Given the description of an element on the screen output the (x, y) to click on. 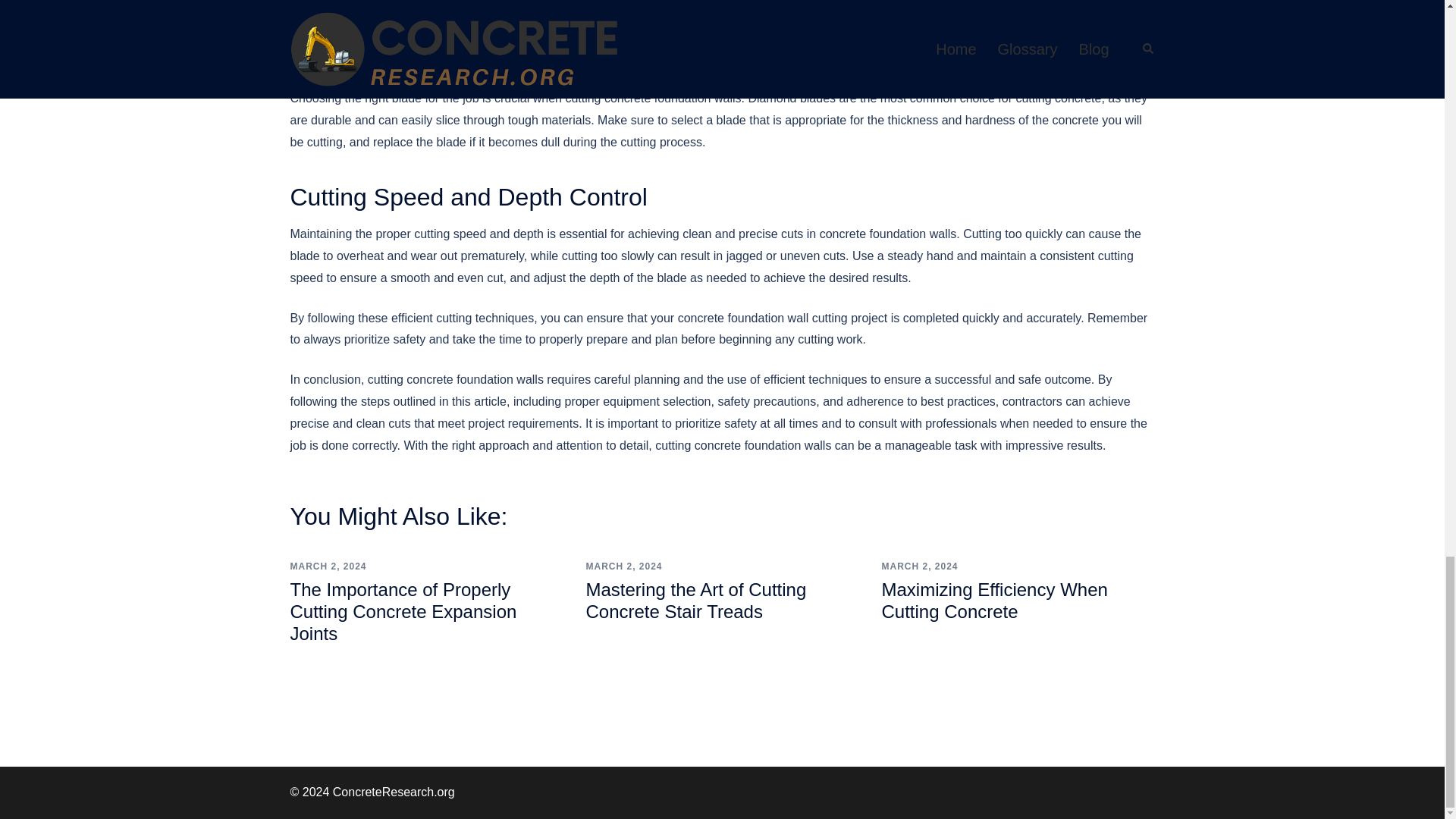
MARCH 2, 2024 (327, 566)
MARCH 2, 2024 (919, 566)
MARCH 2, 2024 (623, 566)
Maximizing Efficiency When Cutting Concrete (993, 600)
Mastering the Art of Cutting Concrete Stair Treads (695, 600)
The Importance of Properly Cutting Concrete Expansion Joints (402, 611)
